Given the description of an element on the screen output the (x, y) to click on. 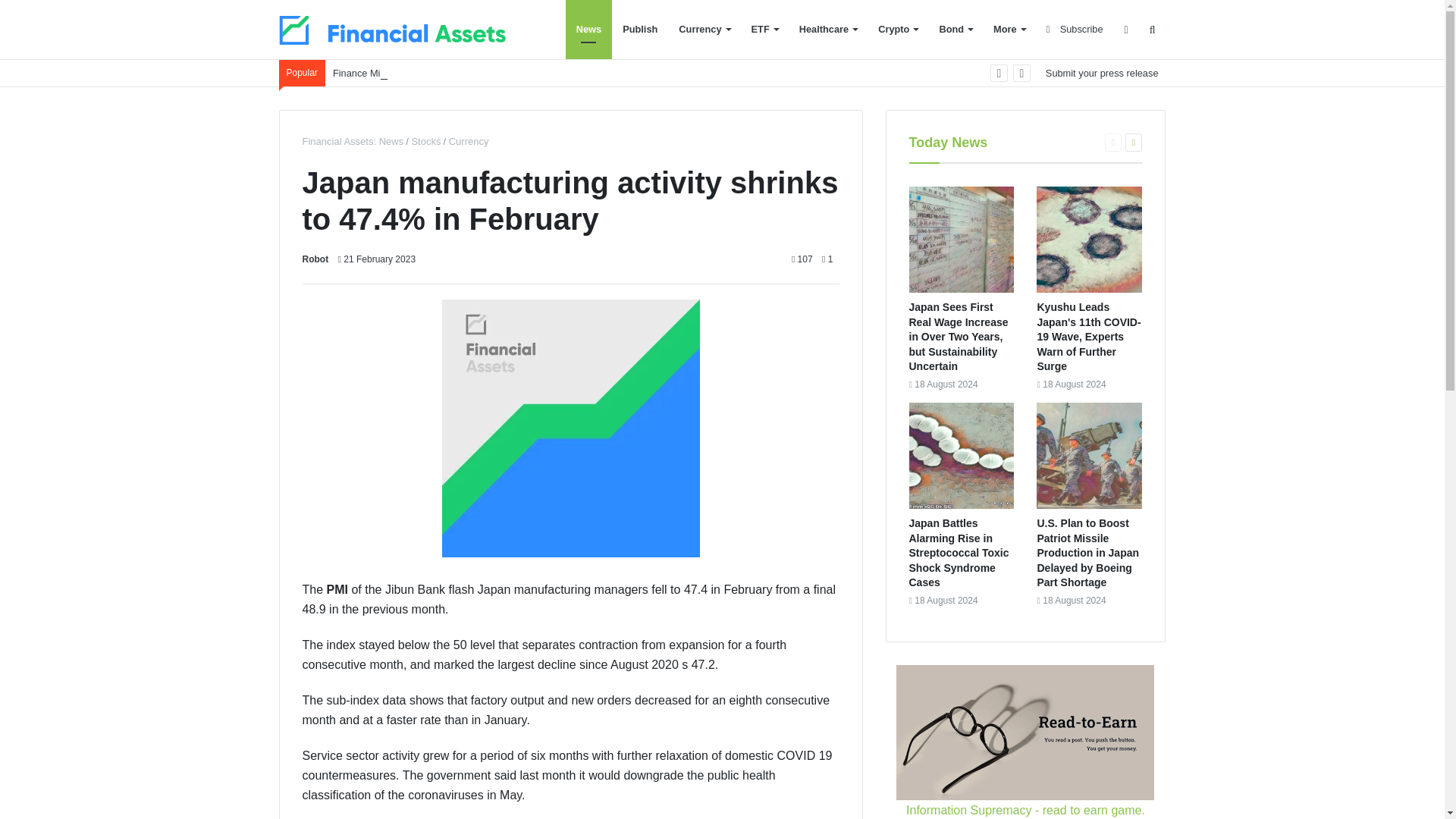
Bond (955, 29)
Currency (466, 141)
Financial Assets: News (352, 141)
More (1008, 29)
Crypto (897, 29)
Publish (639, 29)
